Given the description of an element on the screen output the (x, y) to click on. 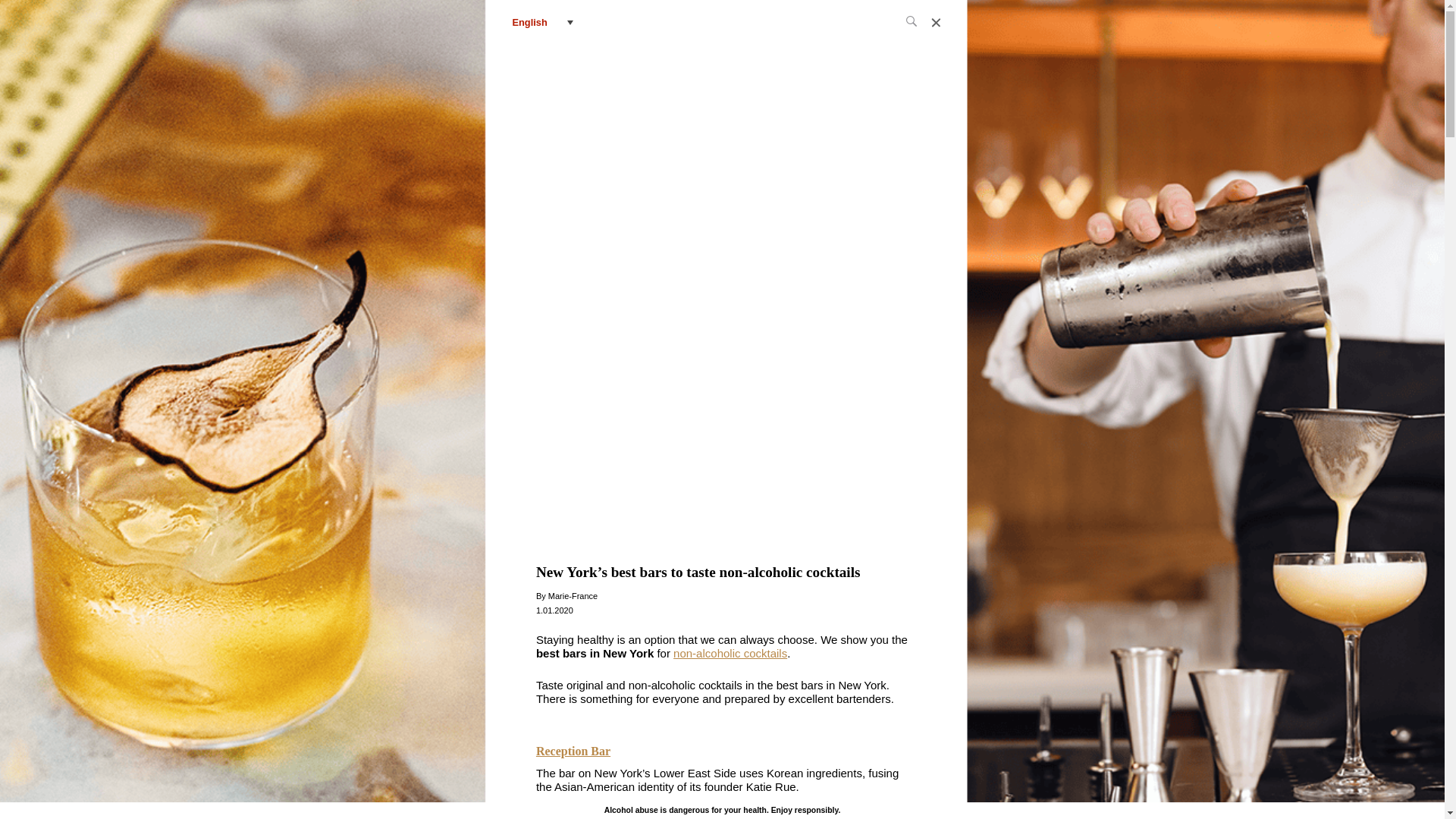
Spirit Hunters (722, 21)
English (542, 22)
